Given the description of an element on the screen output the (x, y) to click on. 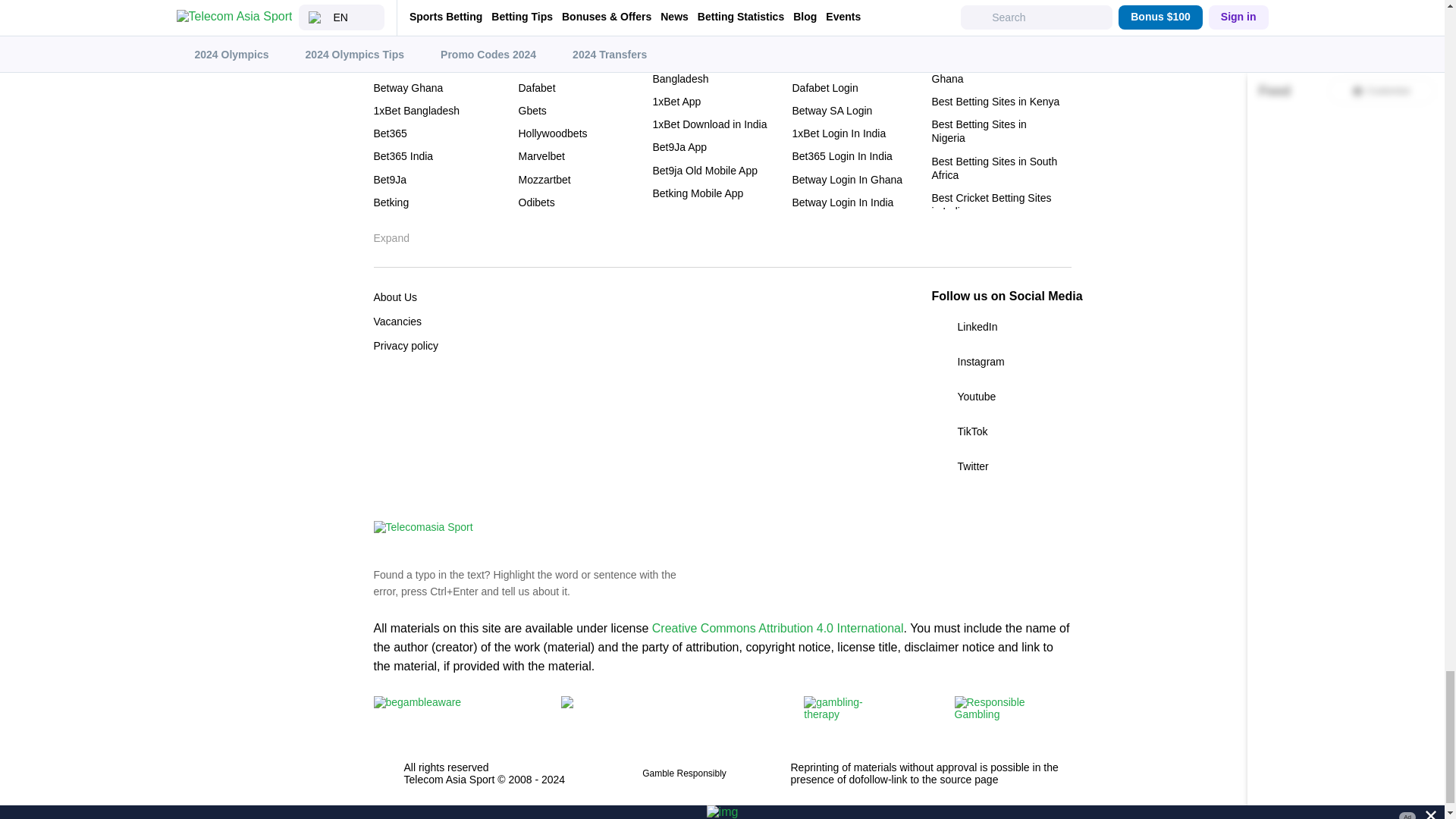
Youtube (1000, 396)
Instagram (1000, 361)
TikTok (1000, 431)
LinkedIn (1000, 326)
